Given the description of an element on the screen output the (x, y) to click on. 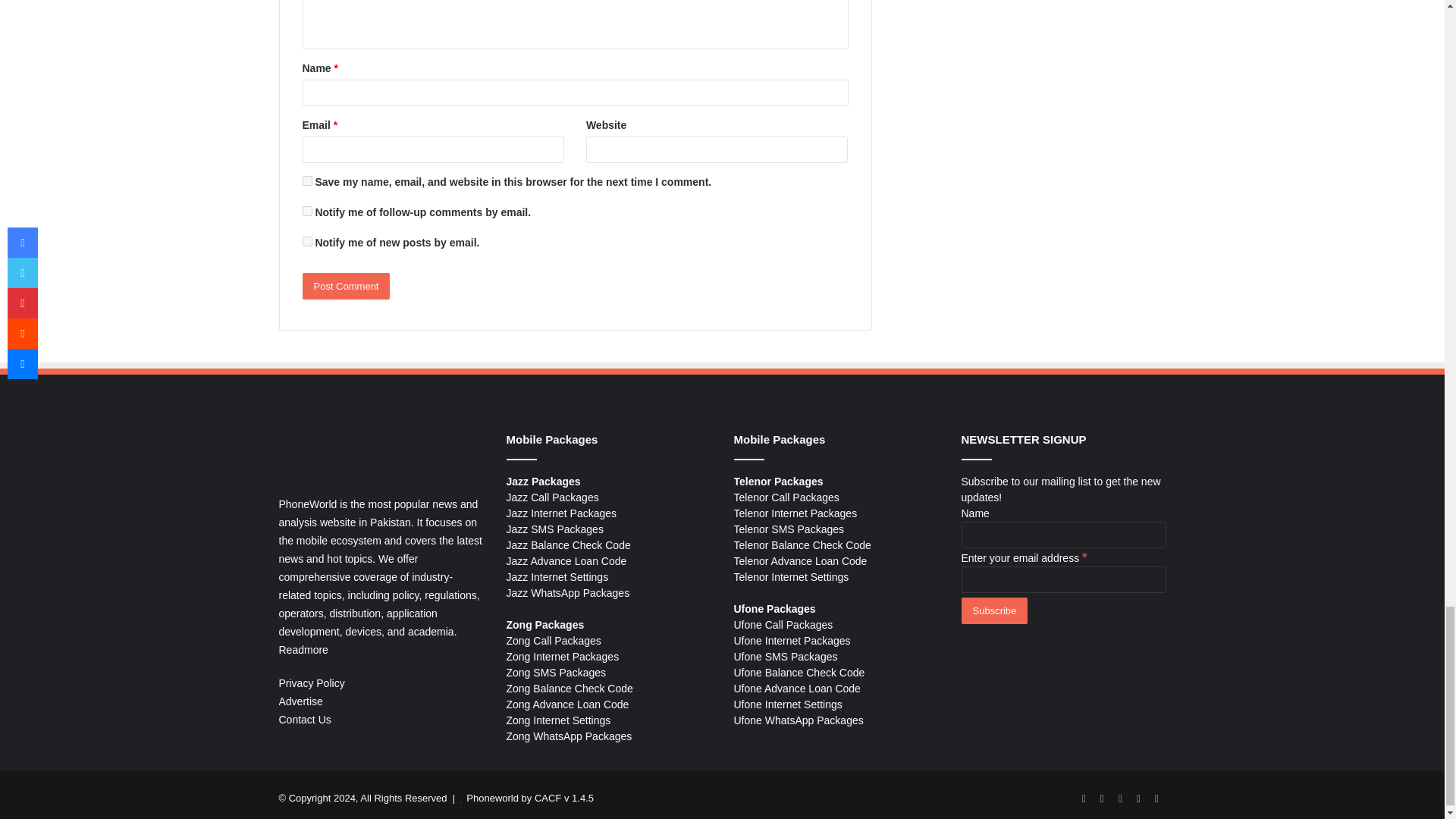
subscribe (306, 241)
subscribe (306, 211)
yes (306, 180)
Subscribe (993, 610)
Post Comment (345, 285)
